Given the description of an element on the screen output the (x, y) to click on. 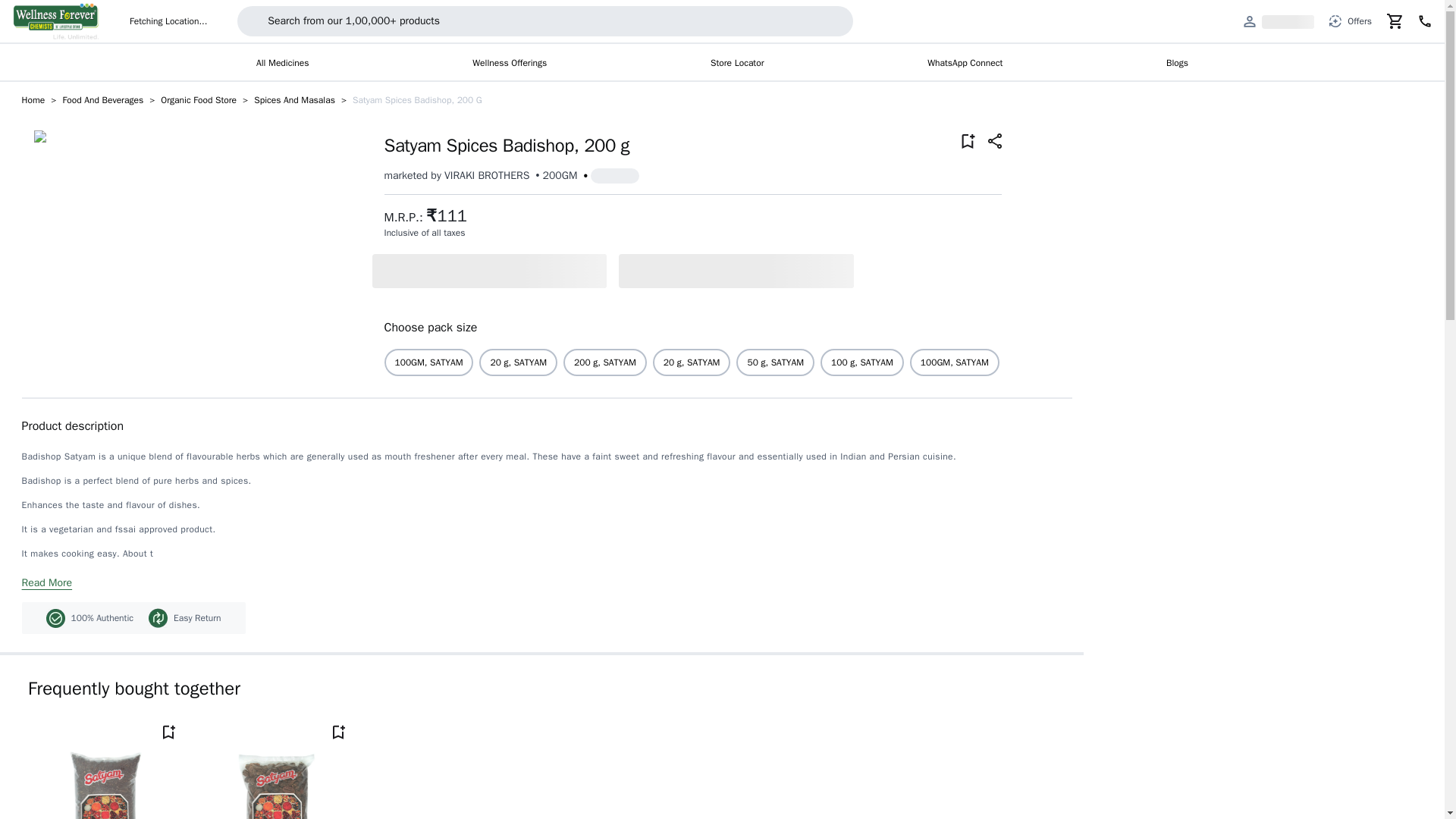
Spices And Masalas (293, 100)
200 g, SATYAM (1129, 361)
50 g, SATYAM (774, 361)
Read More (46, 582)
20 g, SATYAM (691, 361)
100 gm, SATYAM (1222, 361)
Offers (1350, 21)
100GM, SATYAM (429, 361)
Organic Food Store (198, 100)
